Given the description of an element on the screen output the (x, y) to click on. 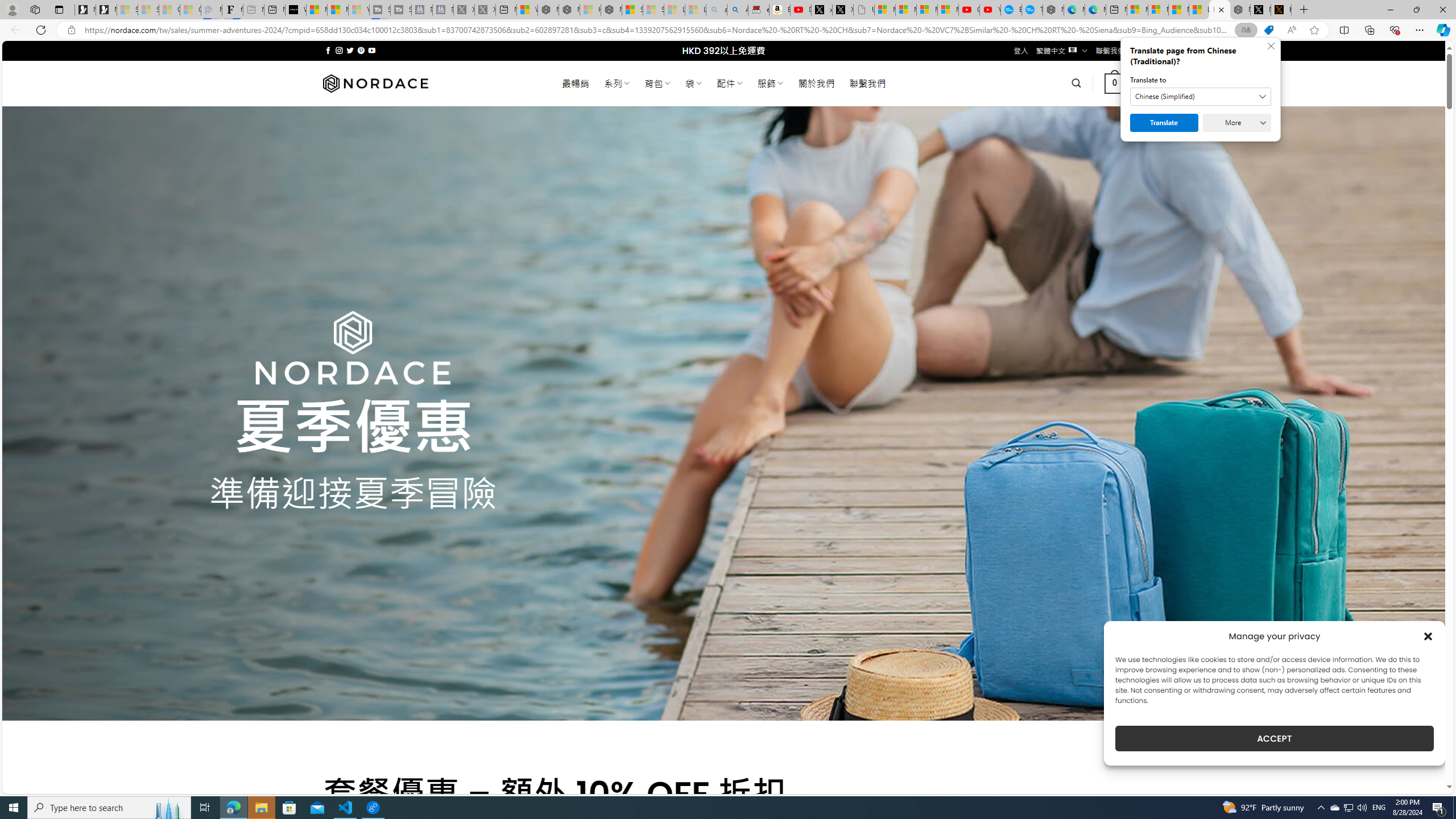
Nordace (@NordaceOfficial) / X (1259, 9)
The most popular Google 'how to' searches (1032, 9)
Day 1: Arriving in Yemen (surreal to be here) - YouTube (800, 9)
